Given the description of an element on the screen output the (x, y) to click on. 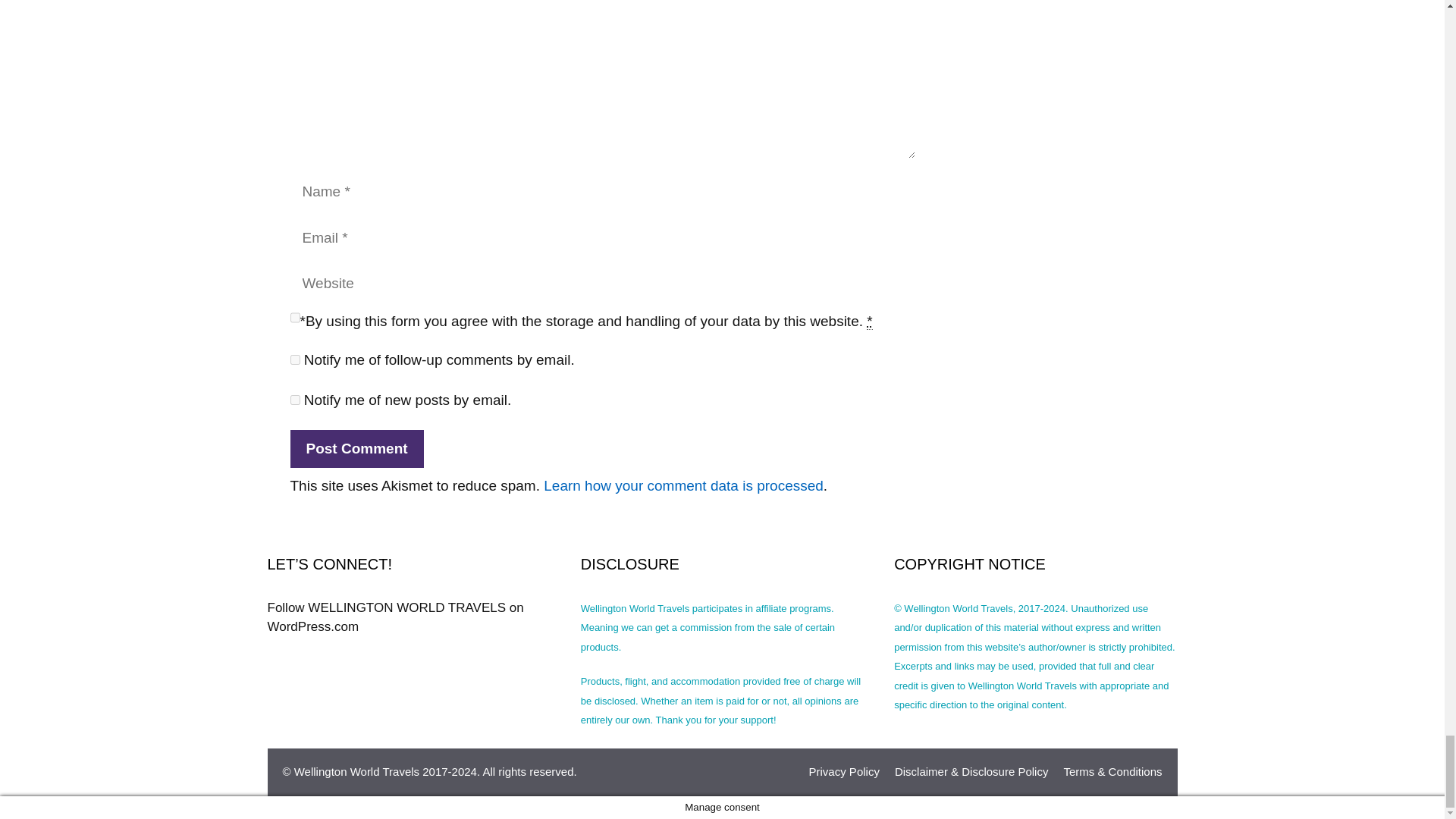
subscribe (294, 399)
subscribe (294, 359)
Post Comment (356, 448)
